Given the description of an element on the screen output the (x, y) to click on. 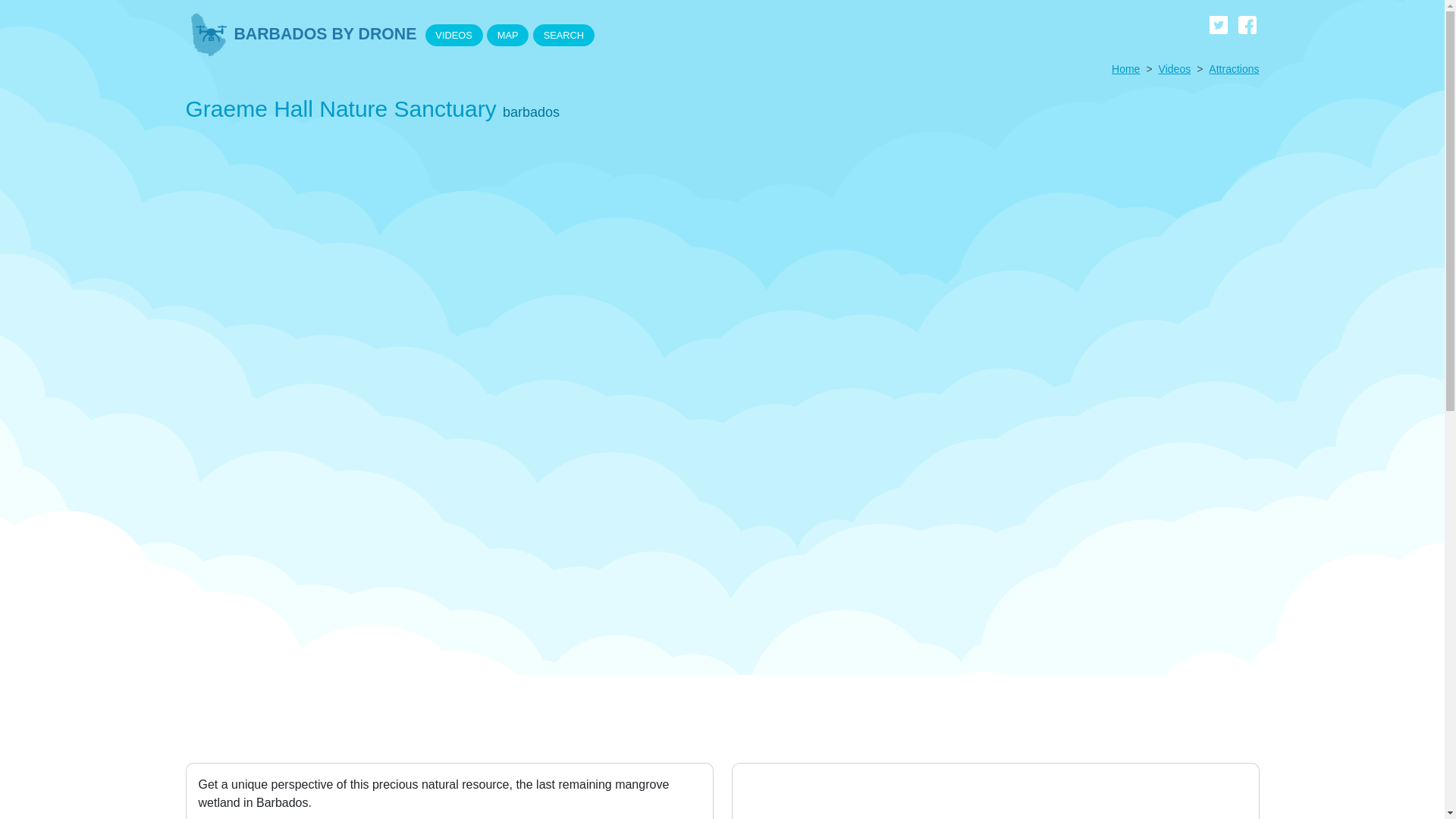
BARBADOS BY DRONE (300, 34)
Home (1126, 69)
Attractions (1233, 69)
MAP (507, 34)
Videos (1174, 69)
VIDEOS (454, 34)
SEARCH (563, 34)
